Given the description of an element on the screen output the (x, y) to click on. 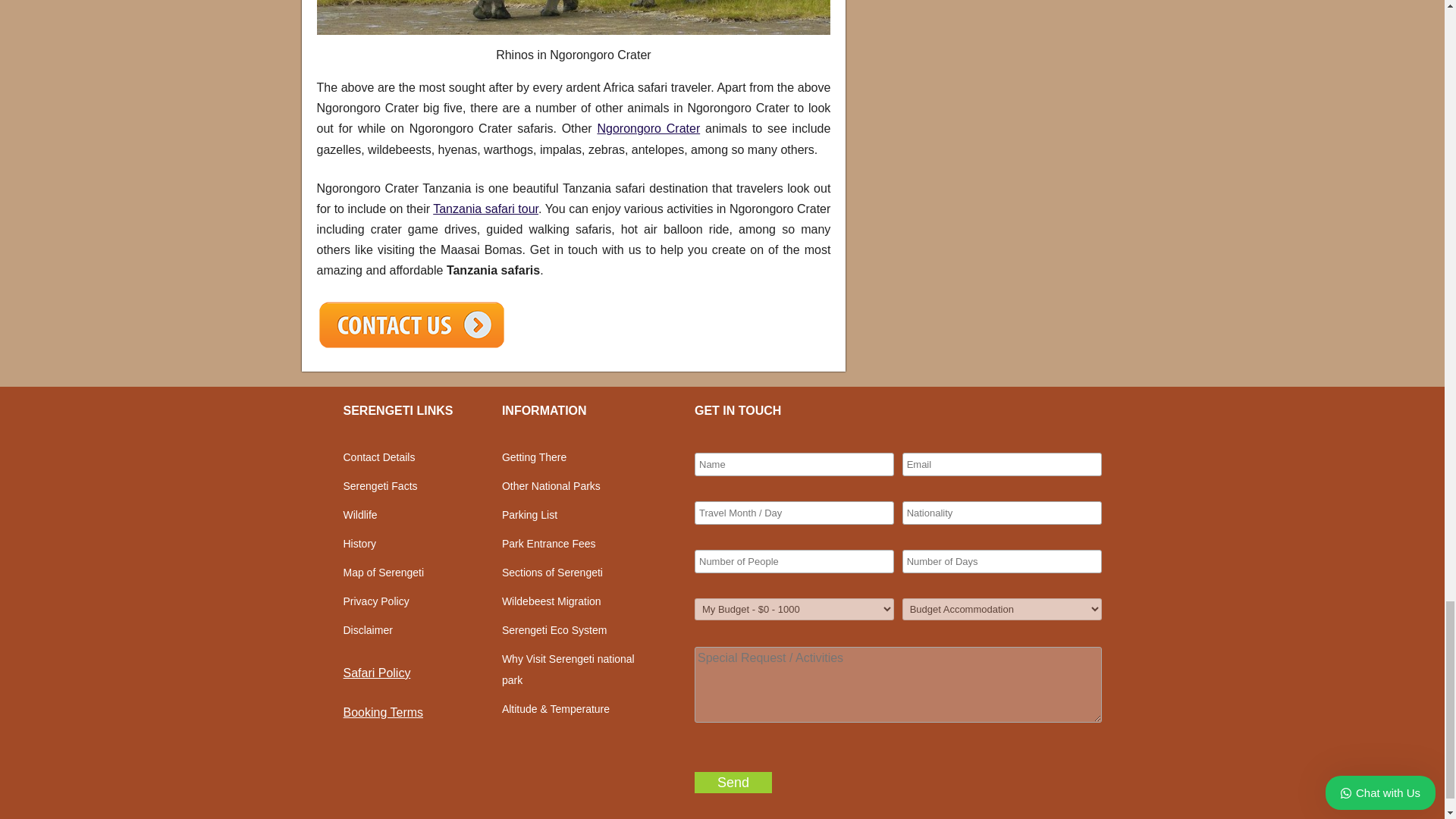
Tanzania safari tour (485, 208)
Send (732, 782)
Ngorongoro Crater (648, 128)
